Given the description of an element on the screen output the (x, y) to click on. 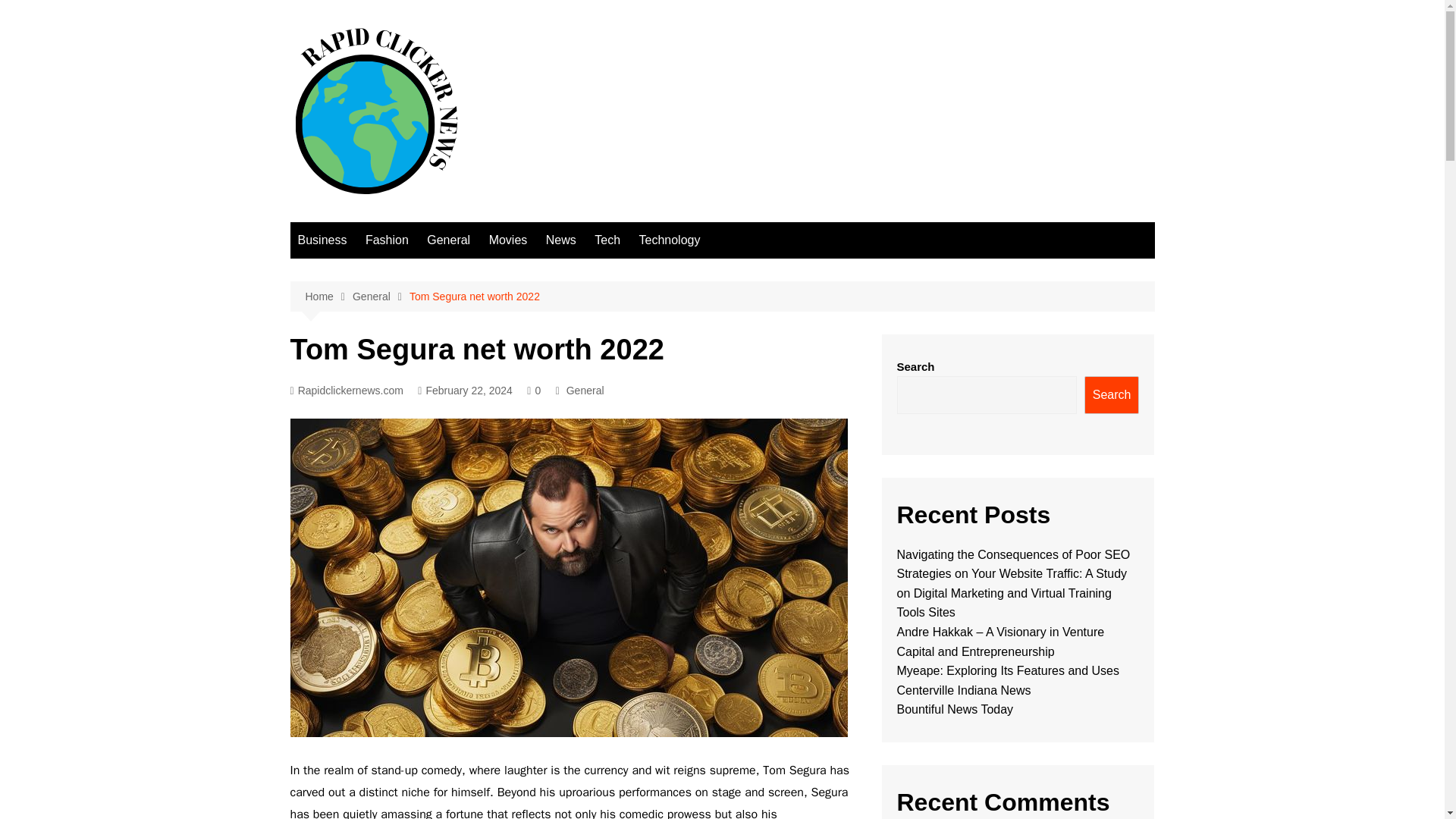
Tom Segura net worth 2022 (474, 296)
News (560, 239)
General (448, 239)
February 22, 2024 (464, 390)
Movies (508, 239)
Fashion (387, 239)
Tech (606, 239)
Rapidclickernews.com (346, 390)
Business (321, 239)
General (585, 390)
Technology (668, 239)
General (380, 296)
Home (328, 296)
